Given the description of an element on the screen output the (x, y) to click on. 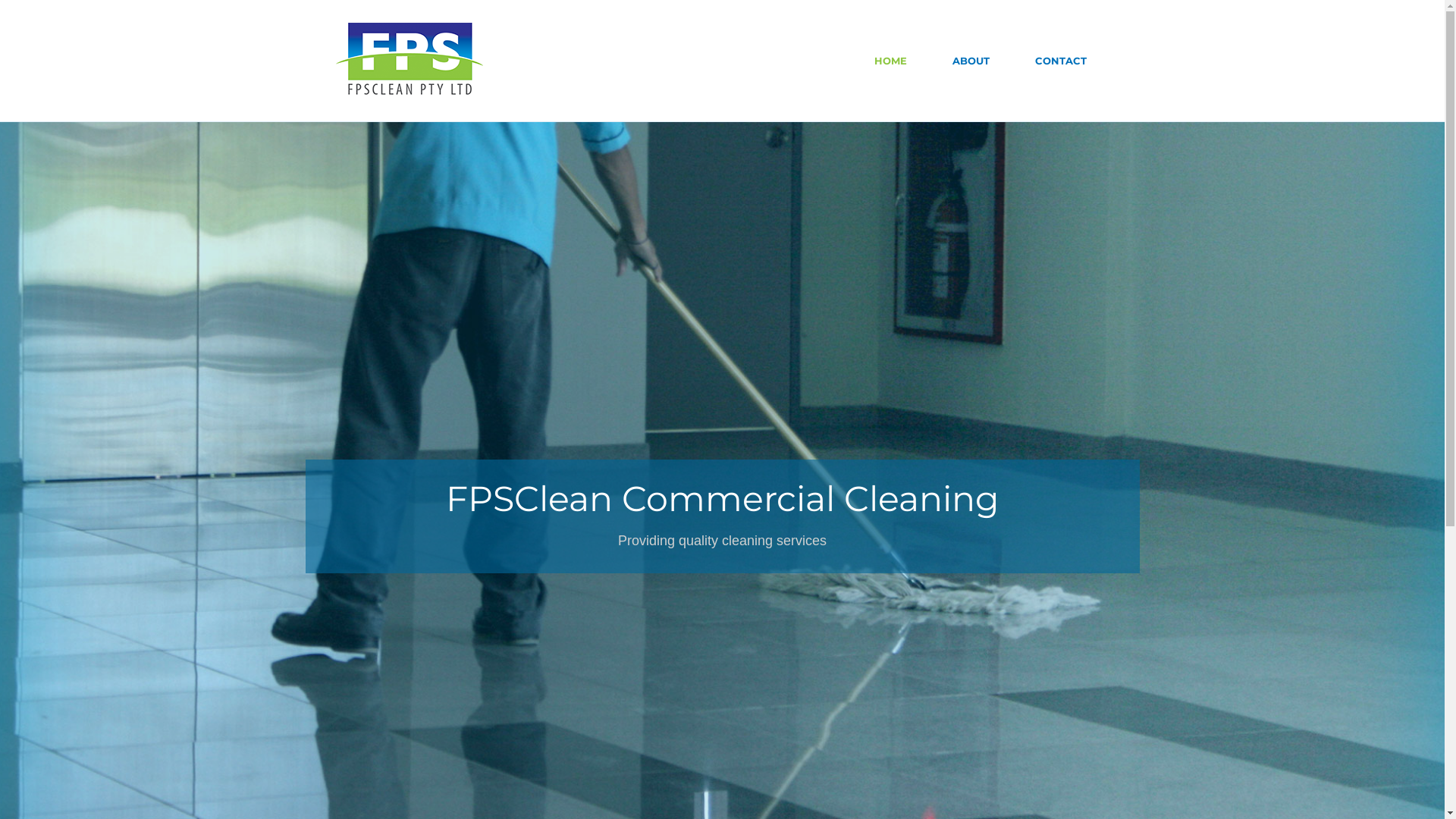
HOME Element type: text (889, 60)
ABOUT Element type: text (970, 60)
CONTACT Element type: text (1059, 60)
